Given the description of an element on the screen output the (x, y) to click on. 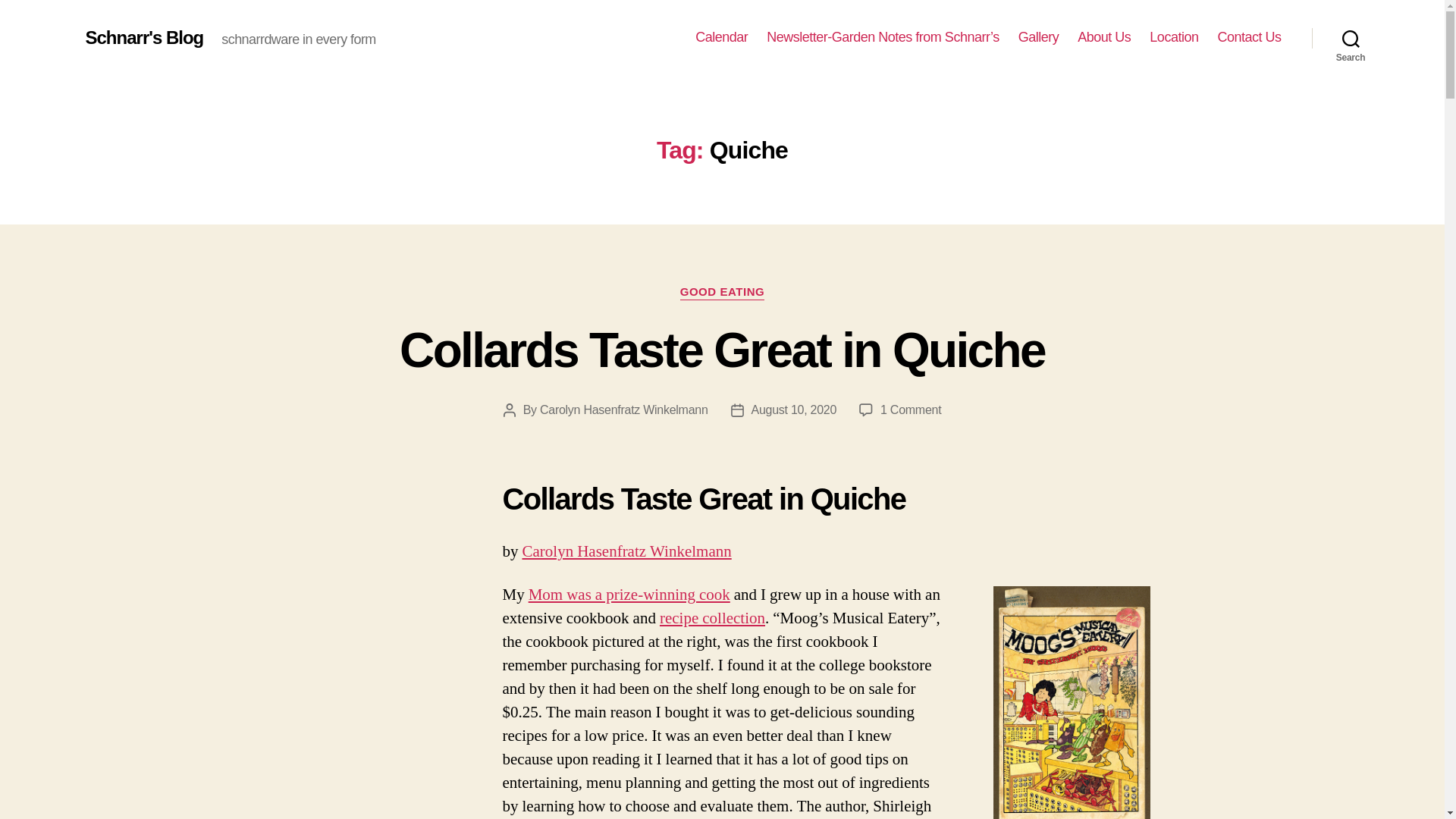
Contact Us (1249, 37)
Calendar (721, 37)
Mom was a prize-winning cook (629, 594)
Collards Taste Great in Quiche (721, 349)
Carolyn Hasenfratz Winkelmann (625, 551)
About Us (1104, 37)
Search (1350, 37)
Schnarr's Blog (143, 37)
GOOD EATING (722, 292)
August 10, 2020 (794, 409)
